Given the description of an element on the screen output the (x, y) to click on. 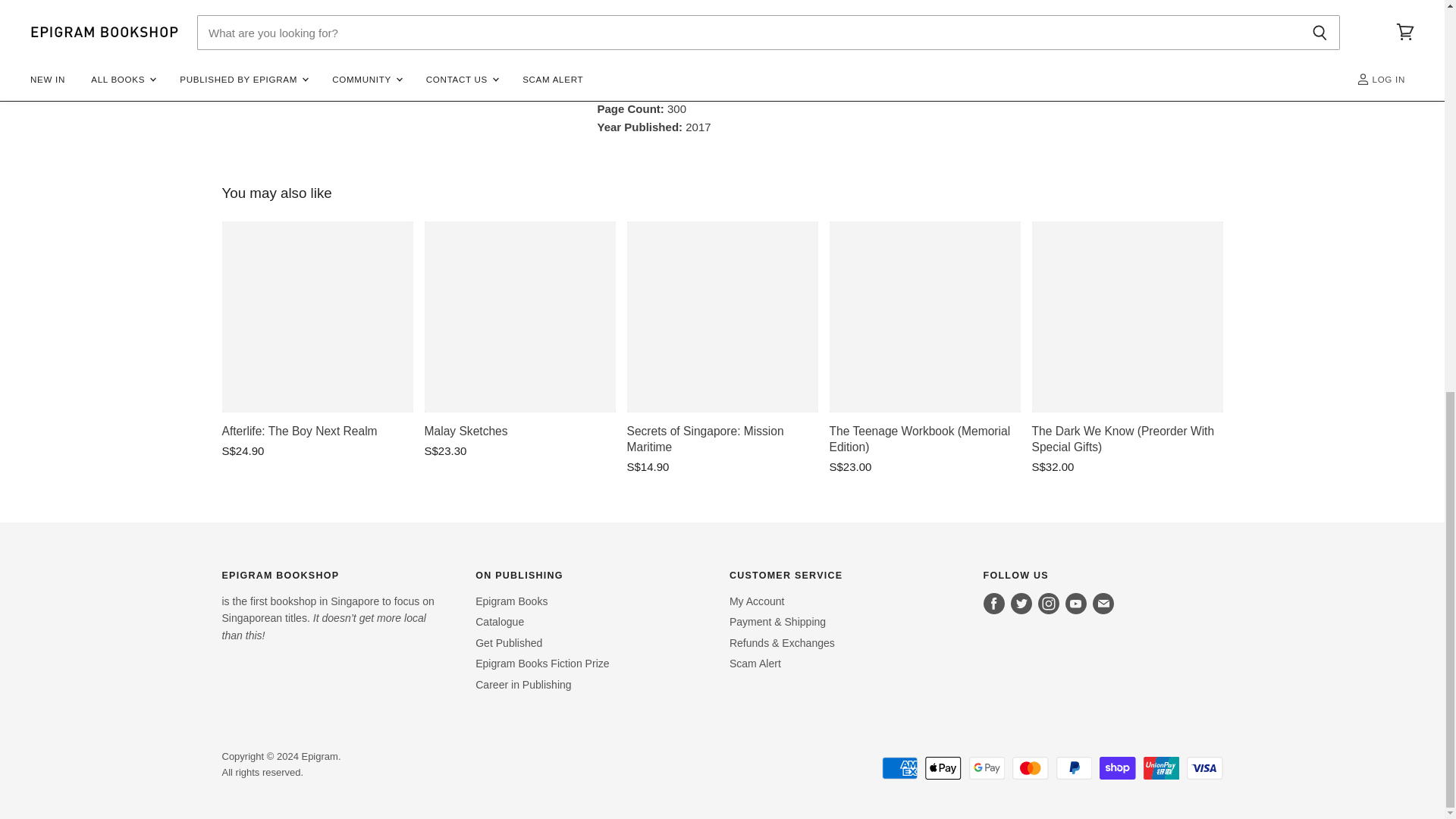
E-mail (1102, 603)
Facebook (993, 603)
Twitter (1021, 603)
Instagram (1048, 603)
Youtube (1075, 603)
